Given the description of an element on the screen output the (x, y) to click on. 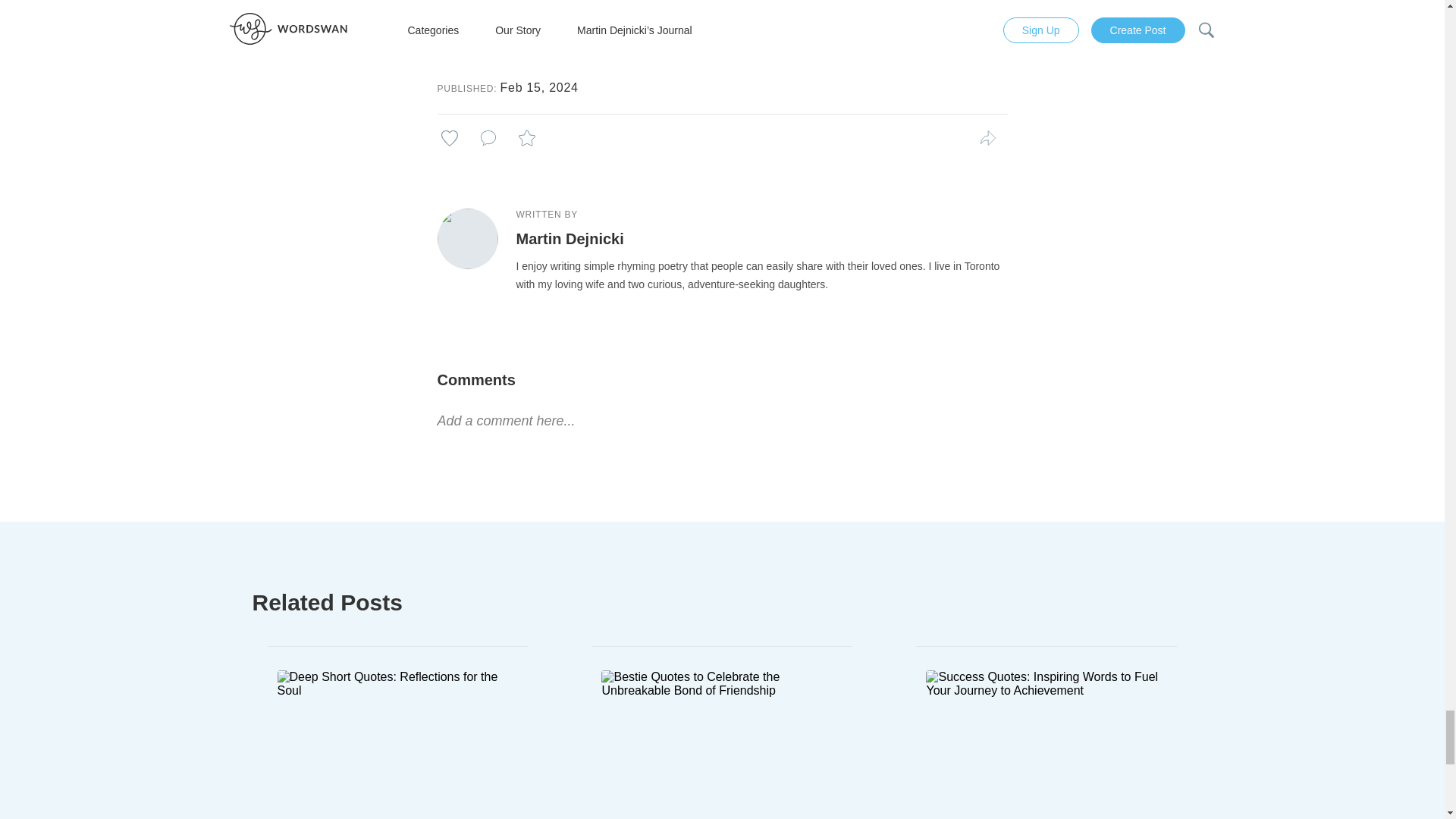
Martin Dejnicki (569, 238)
